Given the description of an element on the screen output the (x, y) to click on. 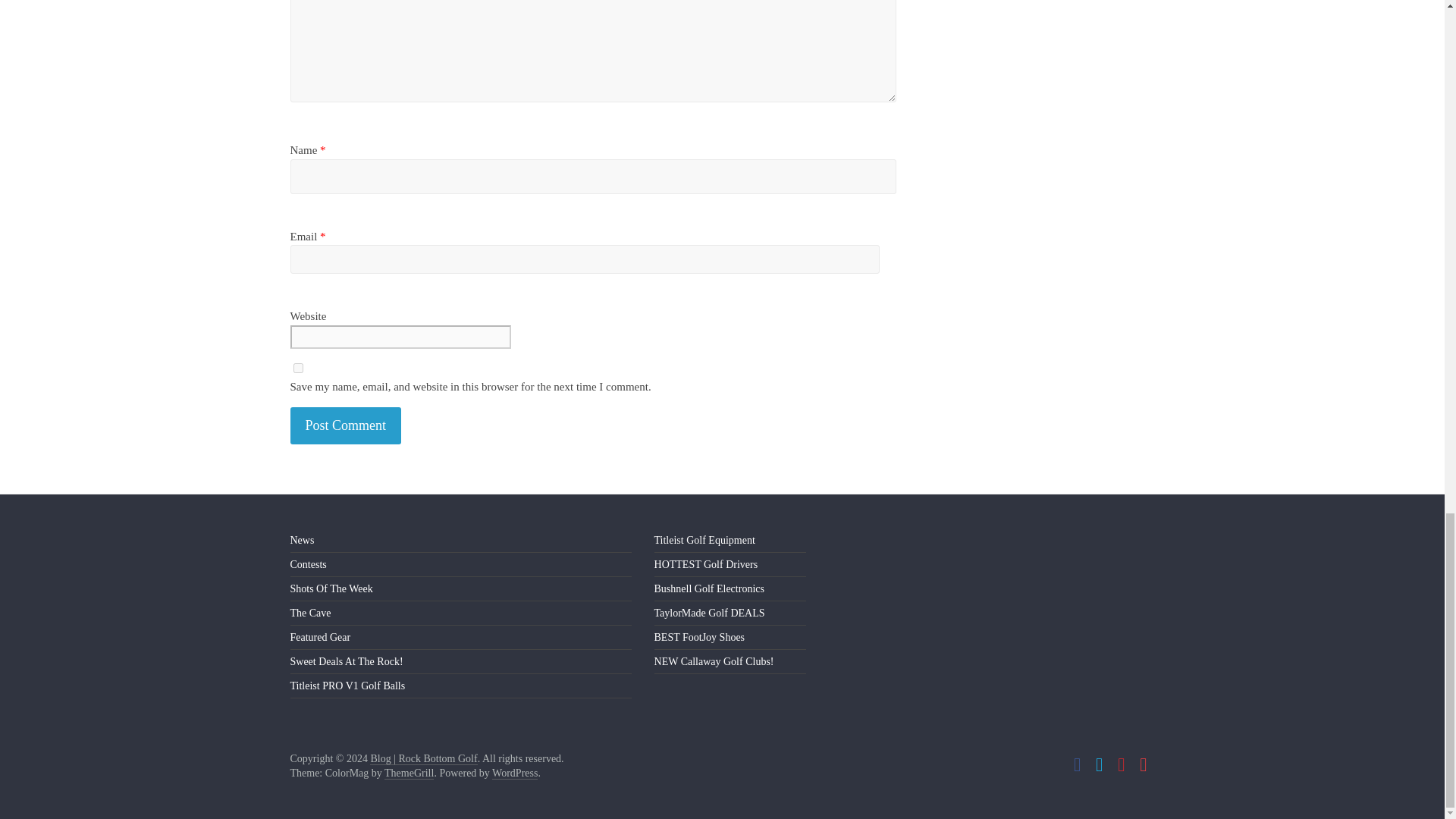
yes (297, 368)
Post Comment (345, 425)
